Given the description of an element on the screen output the (x, y) to click on. 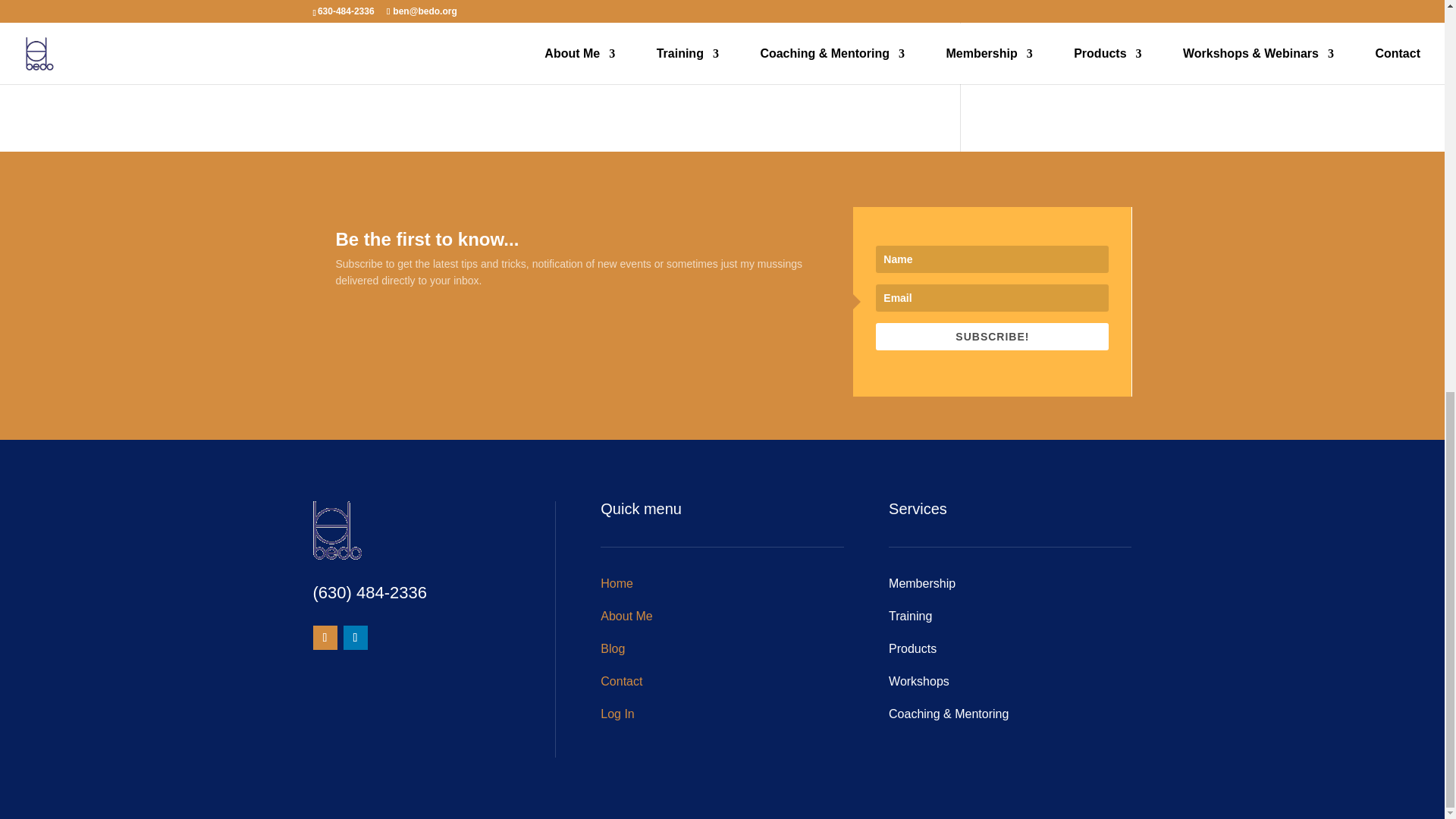
Follow on LinkedIn (354, 637)
Follow on Facebook (324, 637)
